Given the description of an element on the screen output the (x, y) to click on. 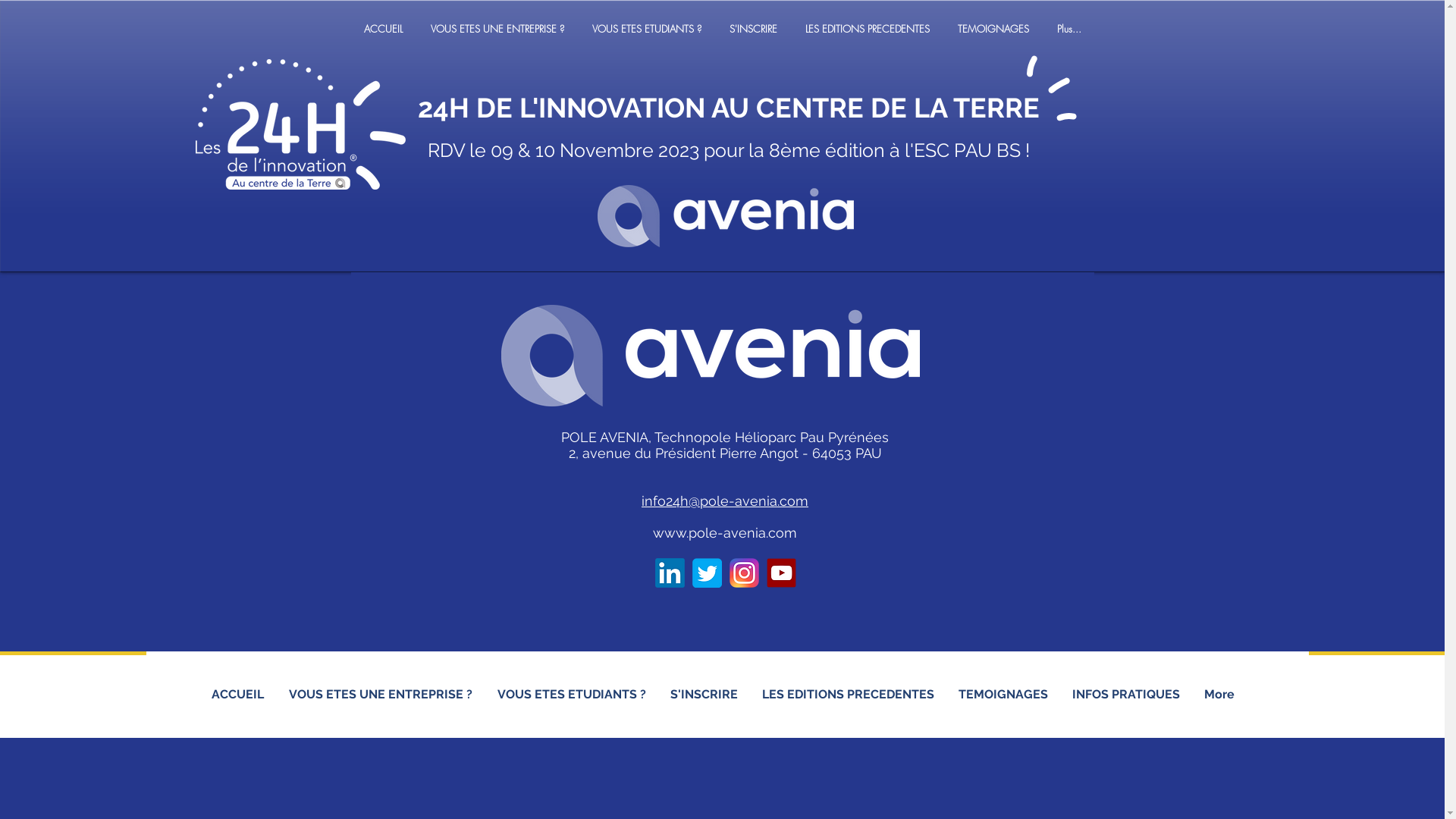
S'INSCRIRE Element type: text (703, 694)
S'INSCRIRE Element type: text (753, 28)
VOUS ETES ETUDIANTS ? Element type: text (571, 694)
TEMOIGNAGES Element type: text (1003, 694)
VOUS ETES UNE ENTREPRISE ? Element type: text (497, 28)
www.pole-avenia.com Element type: text (724, 532)
TEMOIGNAGES Element type: text (992, 28)
ACCUEIL Element type: text (383, 28)
info24h@pole-avenia.com Element type: text (724, 500)
INFOS PRATIQUES Element type: text (1126, 694)
ACCUEIL Element type: text (237, 694)
VOUS ETES ETUDIANTS ? Element type: text (646, 28)
VOUS ETES UNE ENTREPRISE ? Element type: text (380, 694)
